Given the description of an element on the screen output the (x, y) to click on. 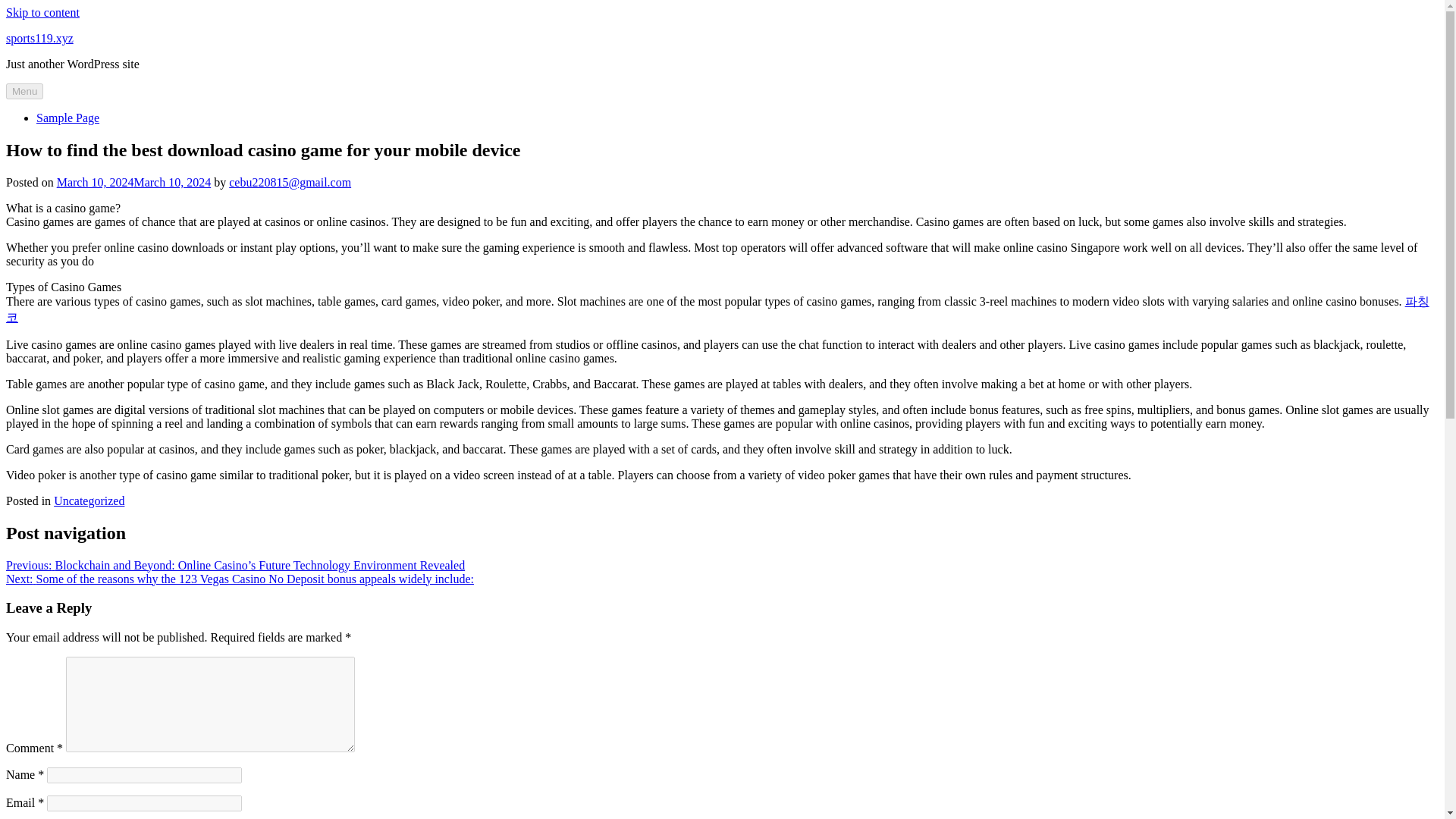
Skip to content (42, 11)
Sample Page (67, 117)
March 10, 2024March 10, 2024 (133, 182)
sports119.xyz (39, 38)
Menu (24, 91)
Uncategorized (88, 500)
